Given the description of an element on the screen output the (x, y) to click on. 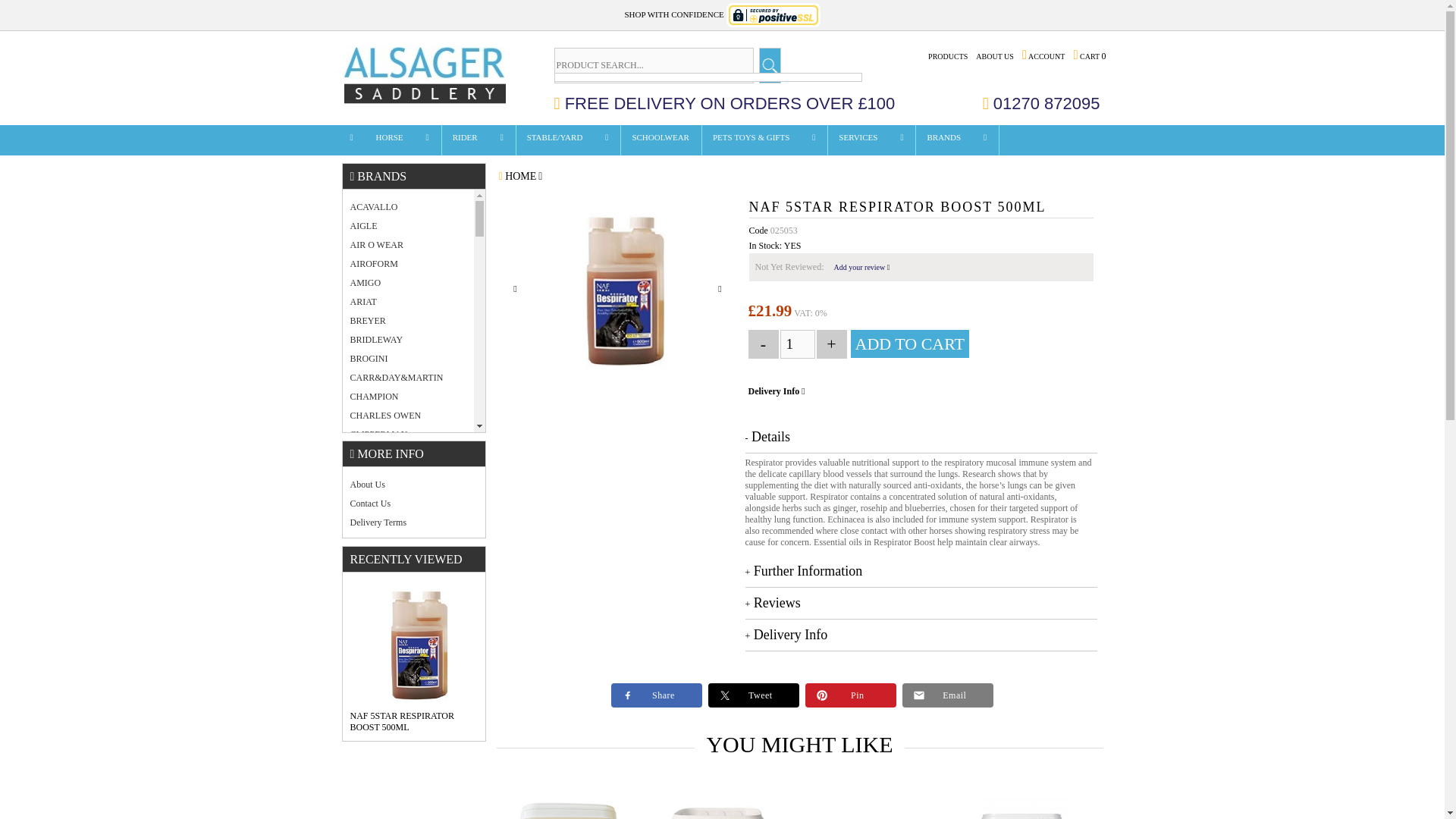
013685 (1023, 808)
019822 (568, 808)
SCHOOLWEAR (661, 141)
SERVICES (858, 141)
HORSE (389, 141)
BRANDS (943, 141)
- (762, 344)
PRODUCTS (947, 56)
ABOUT US (994, 56)
RIDER (465, 141)
CART 0 (1088, 56)
1 (795, 344)
028720 (871, 808)
Alsager Saddlery  (427, 76)
ACCOUNT (1042, 56)
